Given the description of an element on the screen output the (x, y) to click on. 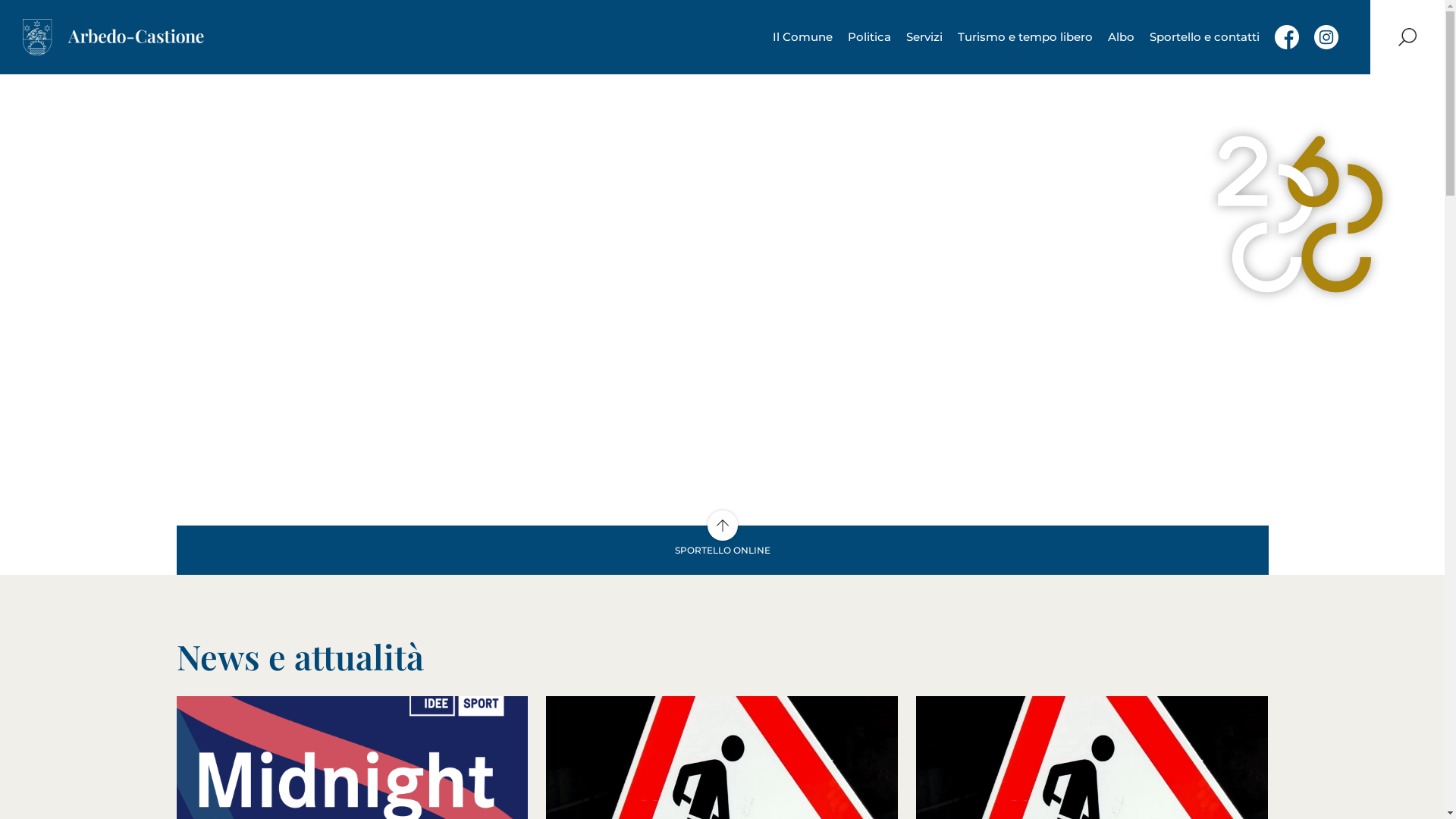
 SPORTELLO ONLINE Element type: text (721, 549)
Albo Element type: text (1121, 36)
Il Comune Element type: text (802, 36)
Vai alla home Element type: hover (113, 36)
Sportello e contatti Element type: text (1204, 36)
Turismo e tempo libero Element type: text (1025, 36)
Politica Element type: text (869, 36)
Servizi Element type: text (924, 36)
